Given the description of an element on the screen output the (x, y) to click on. 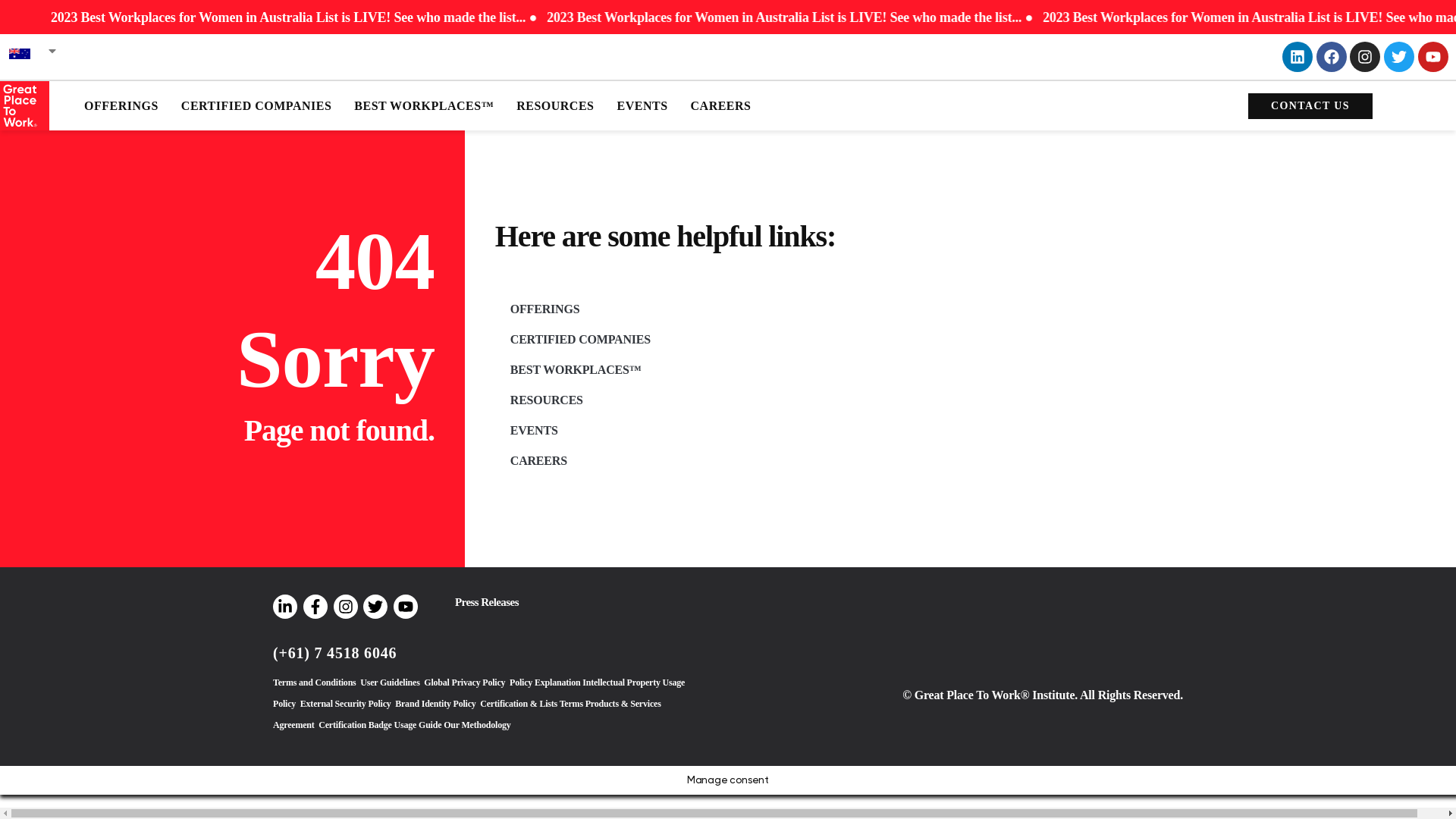
EVENTS Element type: text (641, 104)
EVENTS Element type: text (974, 430)
Certification Badge Usage Guide Element type: text (379, 724)
OFFERINGS Element type: text (120, 104)
Brand Identity Policy Element type: text (435, 703)
Intellectual Property Usage Policy Element type: text (478, 693)
Products & Services Agreement Element type: text (467, 714)
RESOURCES Element type: text (555, 104)
(+61) 7 4518 6046 Element type: text (334, 652)
CAREERS Element type: text (720, 104)
CERTIFIED COMPANIES Element type: text (255, 104)
Terms and Conditions Element type: text (314, 682)
External Security Policy Element type: text (345, 703)
CERTIFIED COMPANIES Element type: text (974, 339)
OFFERINGS Element type: text (974, 309)
Policy Explanation Element type: text (544, 682)
Global Privacy Policy Element type: text (464, 682)
RESOURCES Element type: text (974, 400)
CAREERS Element type: text (974, 460)
User Guidelines Element type: text (389, 682)
Certification & Lists Terms Element type: text (531, 703)
Our Methodology Element type: text (476, 724)
CONTACT US Element type: text (1310, 105)
